Given the description of an element on the screen output the (x, y) to click on. 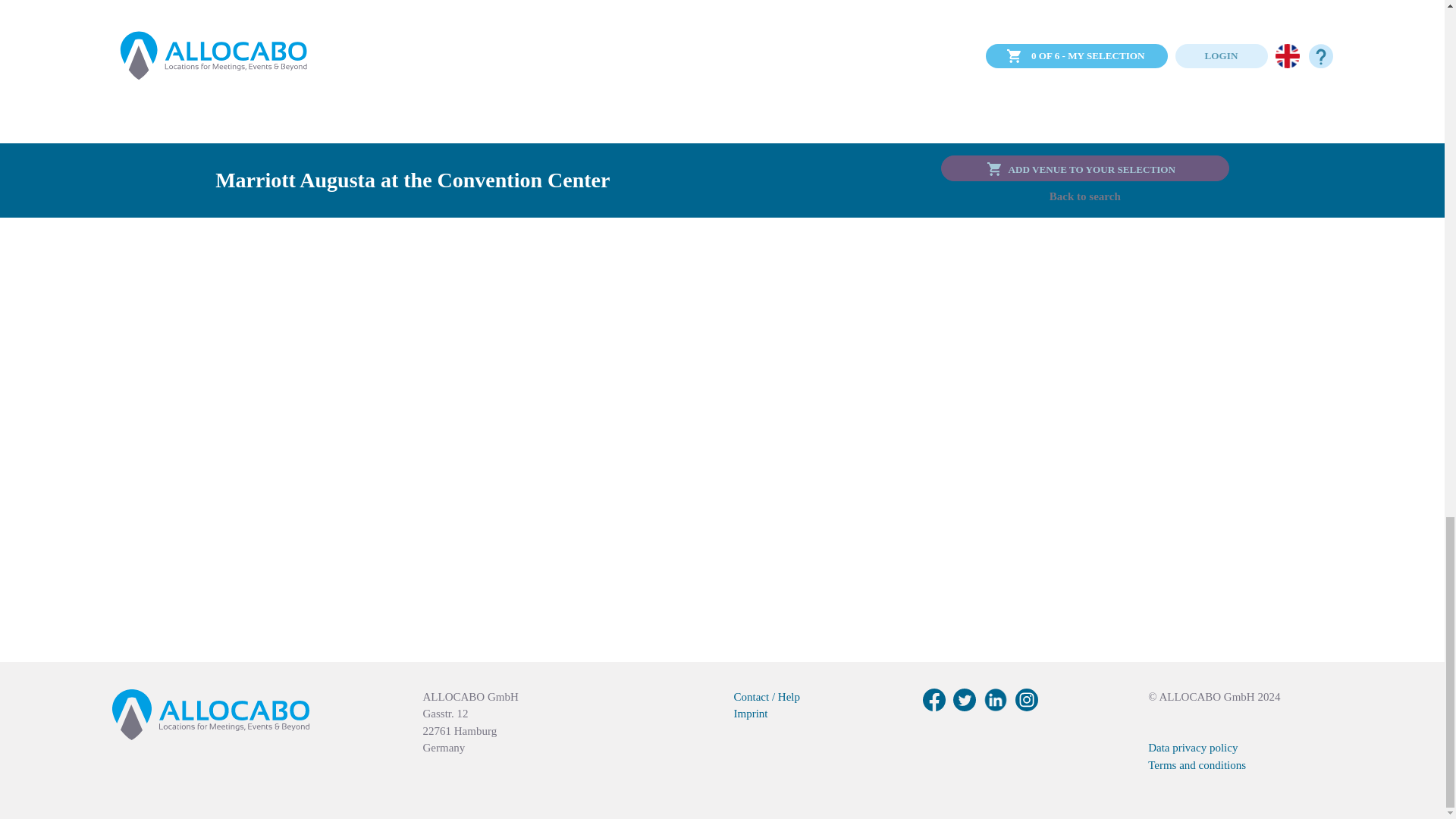
Data privacy policy (1192, 747)
Imprint (750, 713)
Terms and conditions (1197, 765)
